Given the description of an element on the screen output the (x, y) to click on. 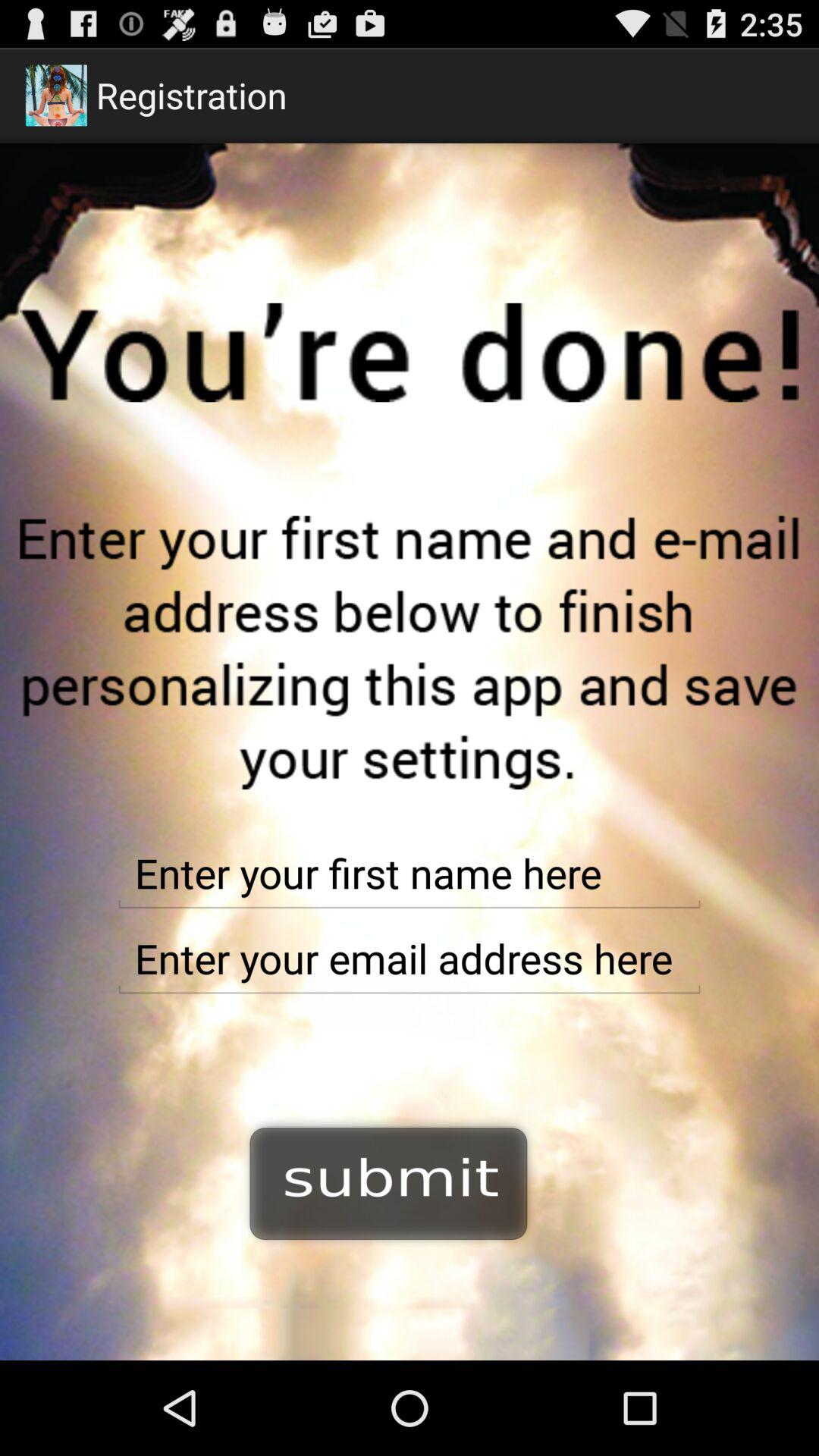
go to submit (389, 1181)
